Given the description of an element on the screen output the (x, y) to click on. 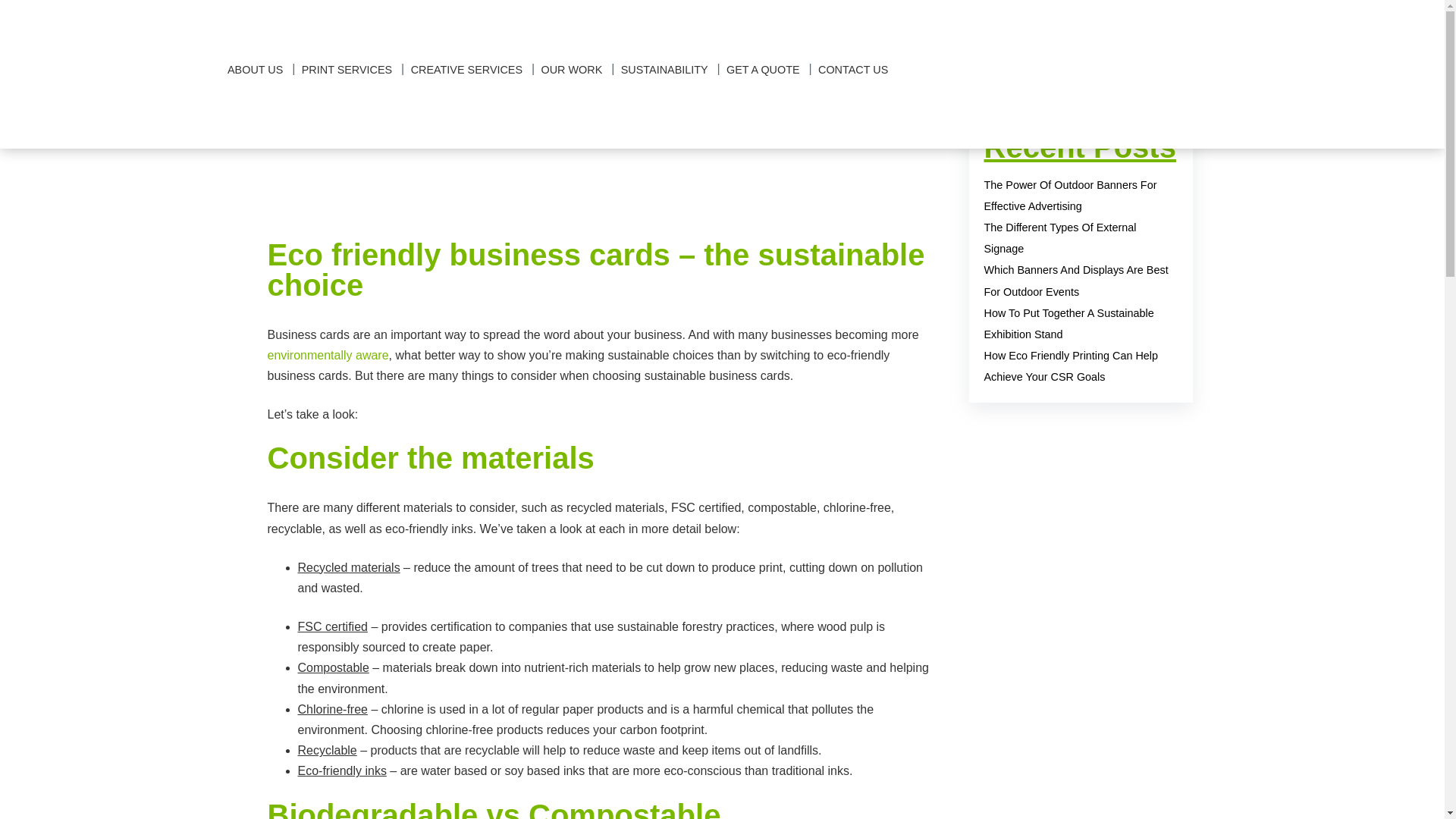
GET A QUOTE (763, 70)
How To Put Together A Sustainable Exhibition Stand (1069, 323)
Which Banners And Displays Are Best For Outdoor Events (1076, 280)
How Eco Friendly Printing Can Help Achieve Your CSR Goals (1071, 366)
PRINT SERVICES (346, 70)
OUR WORK (572, 70)
environmentally aware (327, 354)
CREATIVE SERVICES (466, 70)
The Different Types Of External Signage (1060, 237)
ABOUT US (254, 70)
